Given the description of an element on the screen output the (x, y) to click on. 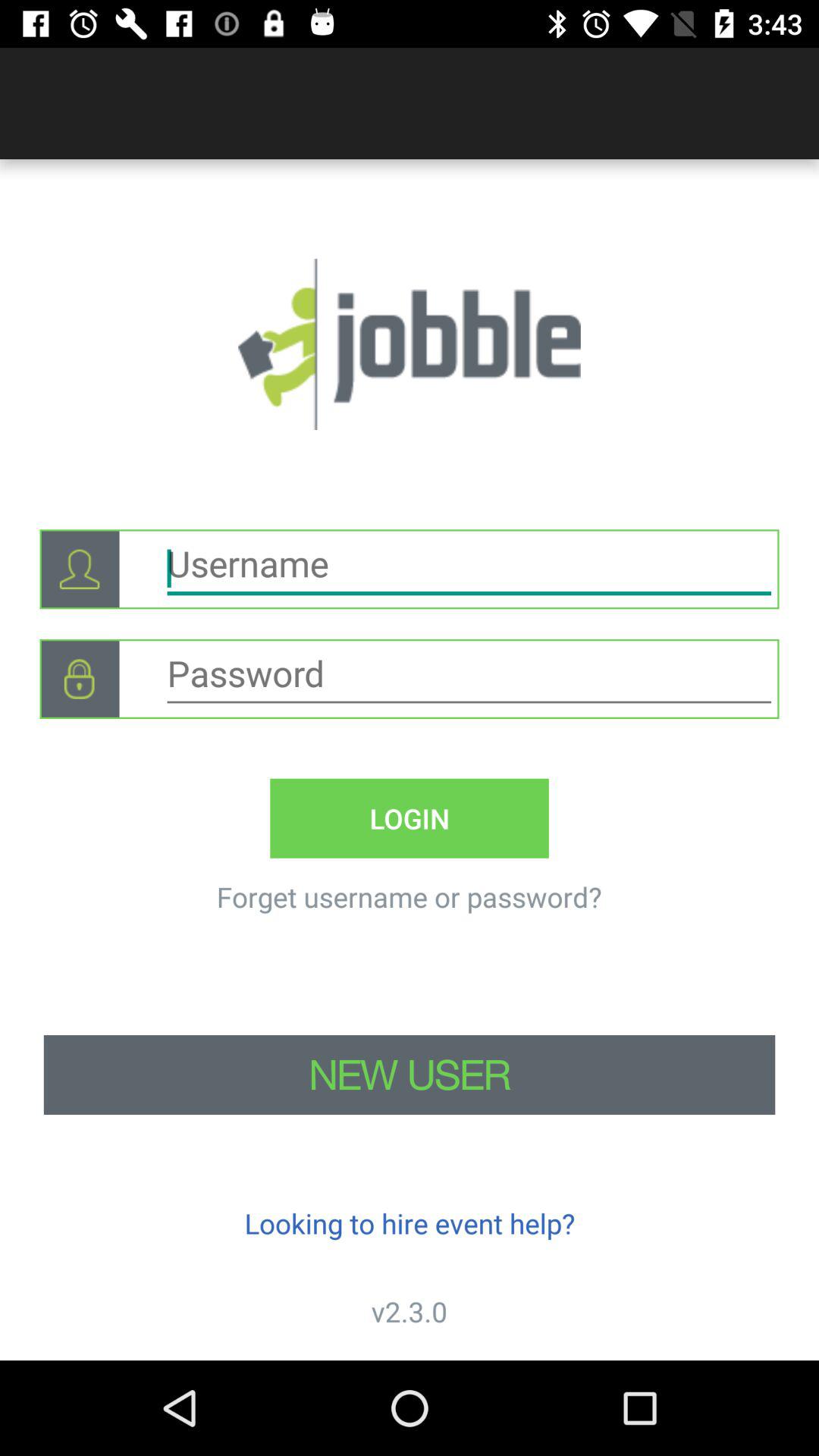
scroll until the v2.3.0 item (409, 1311)
